Given the description of an element on the screen output the (x, y) to click on. 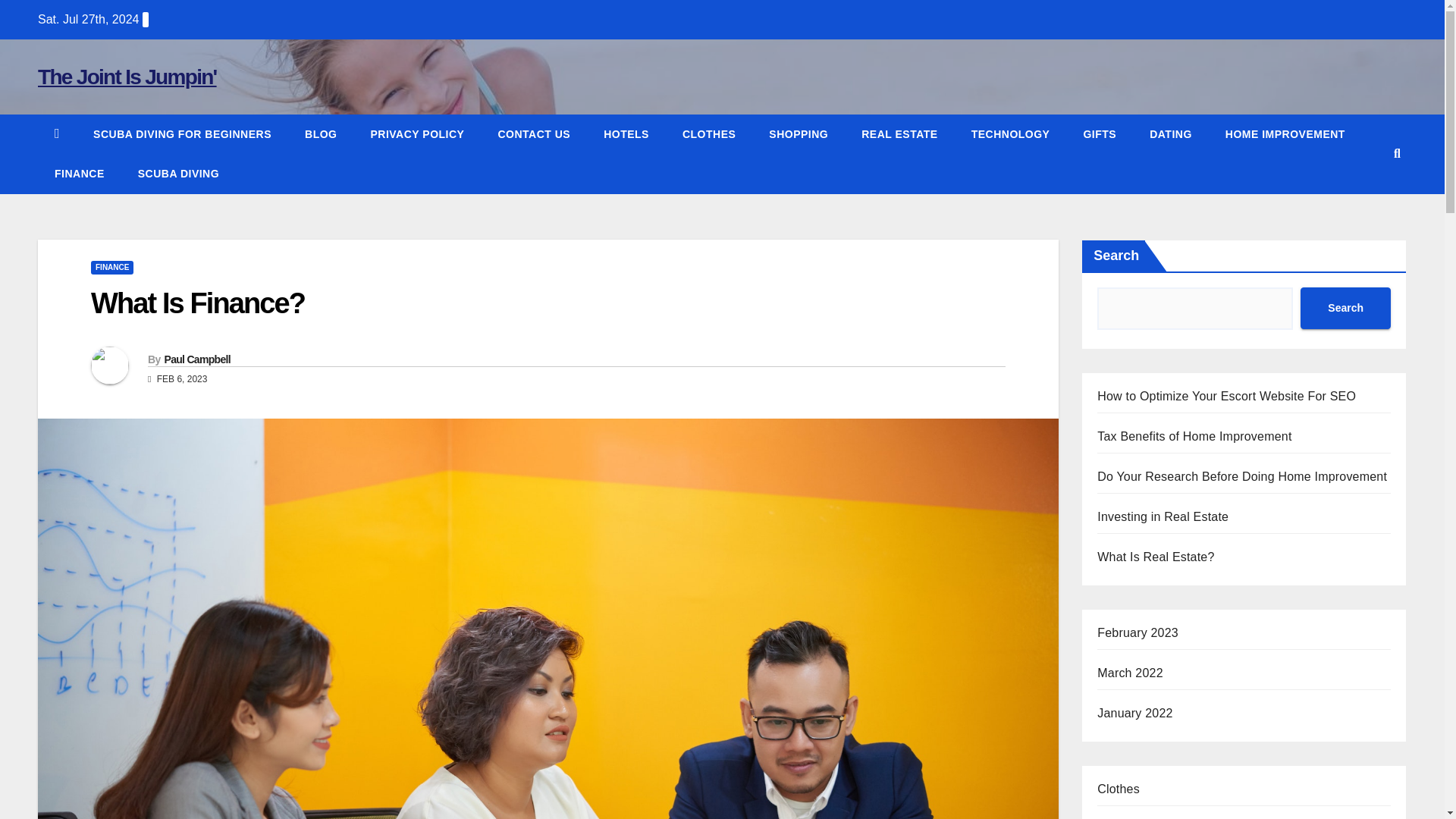
Technology (1011, 133)
Contact Us (533, 133)
PRIVACY POLICY (416, 133)
GIFTS (1098, 133)
SHOPPING (798, 133)
CONTACT US (533, 133)
Hotels (625, 133)
Home Improvement (1284, 133)
Gifts (1098, 133)
Shopping (798, 133)
Dating (1170, 133)
FINANCE (111, 267)
BLOG (320, 133)
Blog (320, 133)
REAL ESTATE (898, 133)
